Given the description of an element on the screen output the (x, y) to click on. 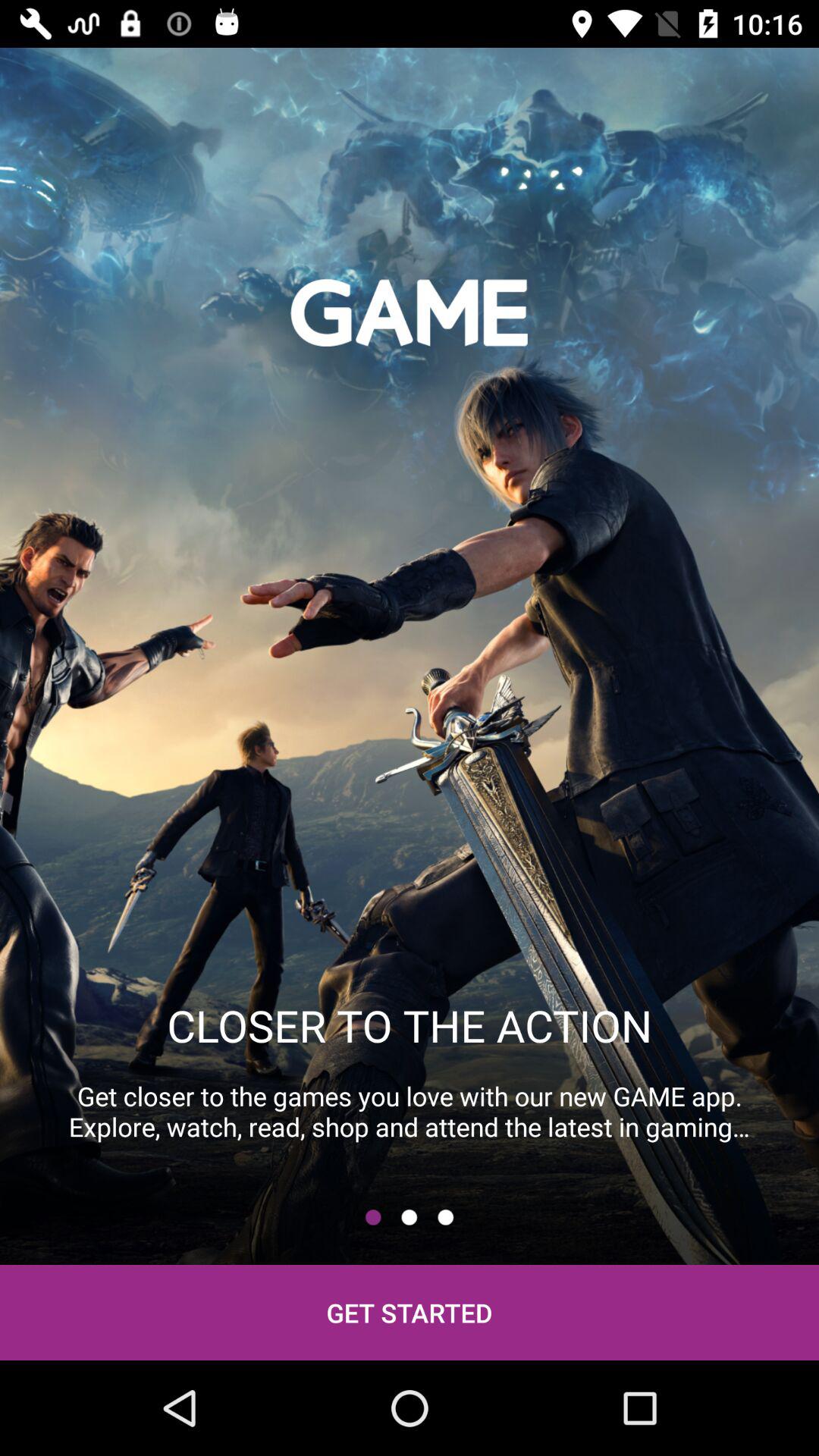
launch get started icon (409, 1312)
